Given the description of an element on the screen output the (x, y) to click on. 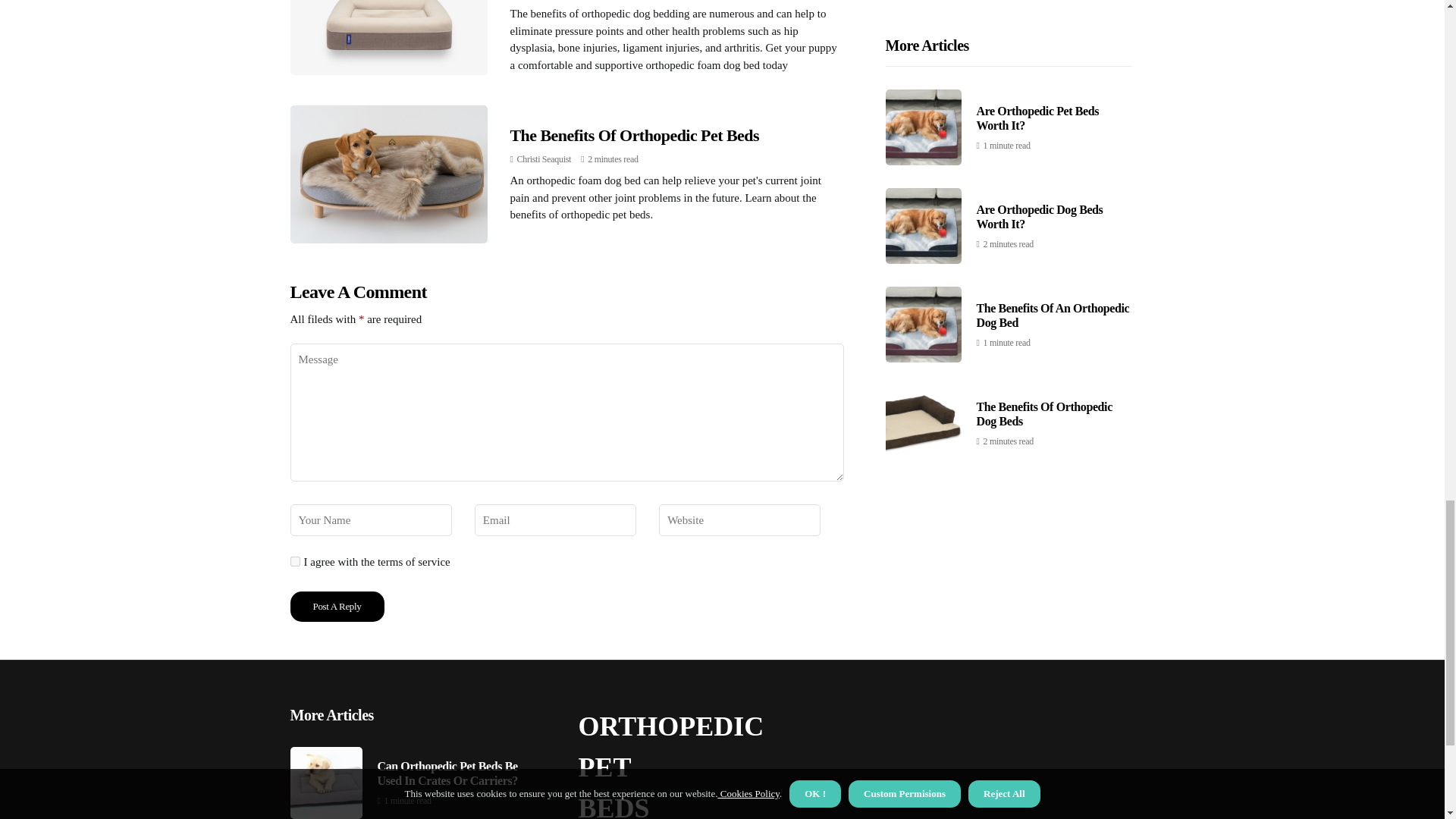
The Benefits Of Orthopedic Pet Beds (633, 135)
Post a Reply (336, 606)
yes (294, 561)
Christi Seaquist (544, 158)
Posts by Christi Seaquist (544, 158)
Post a Reply (336, 606)
